Given the description of an element on the screen output the (x, y) to click on. 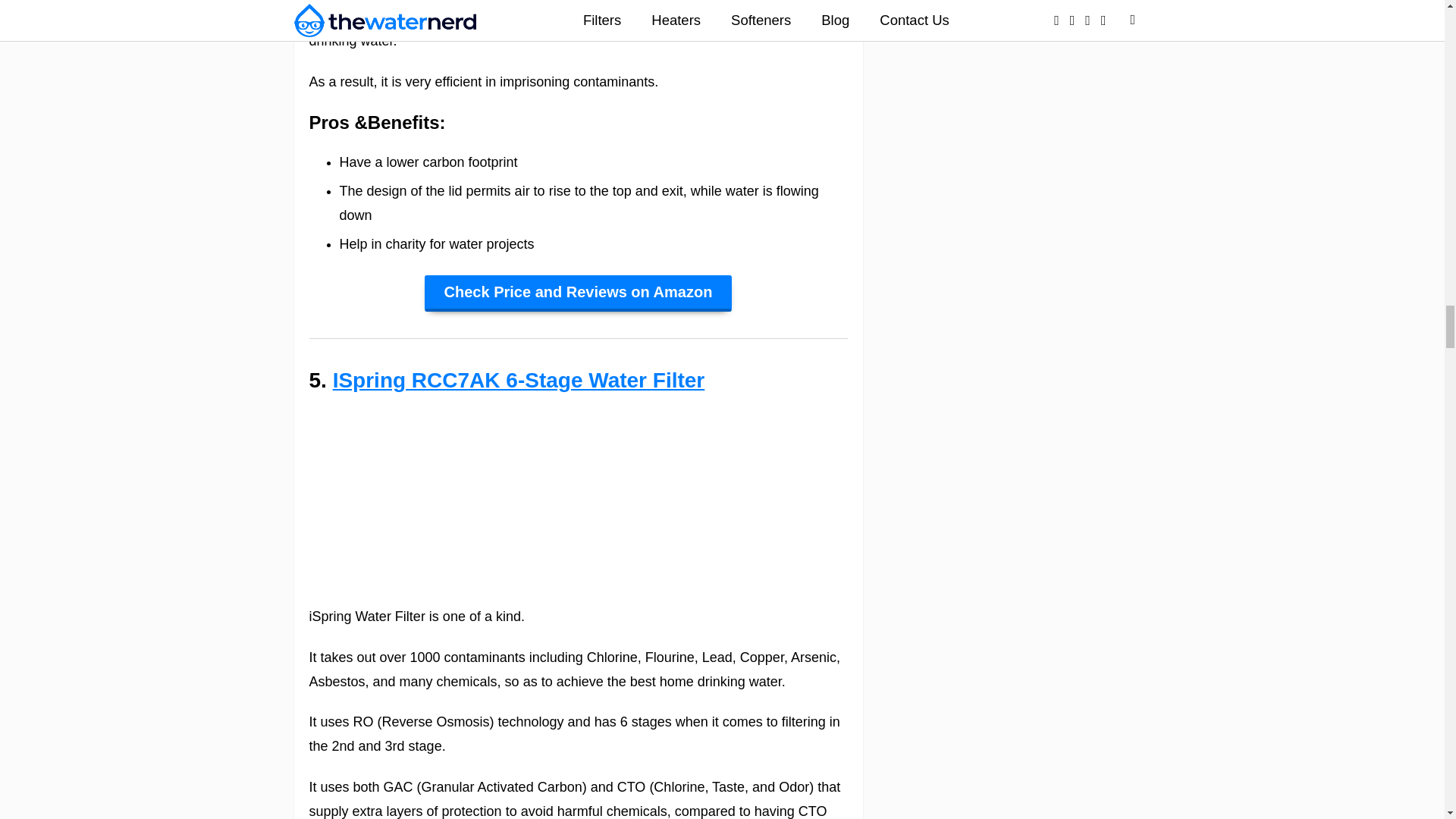
iSpring RCC7AK 6-Stage Water Filter (518, 380)
ISpring RCC7AK 6-Stage Water Filter (518, 380)
Check Price and Reviews on Amazon (578, 293)
Check Price and Reviews on Amazon (578, 293)
